Given the description of an element on the screen output the (x, y) to click on. 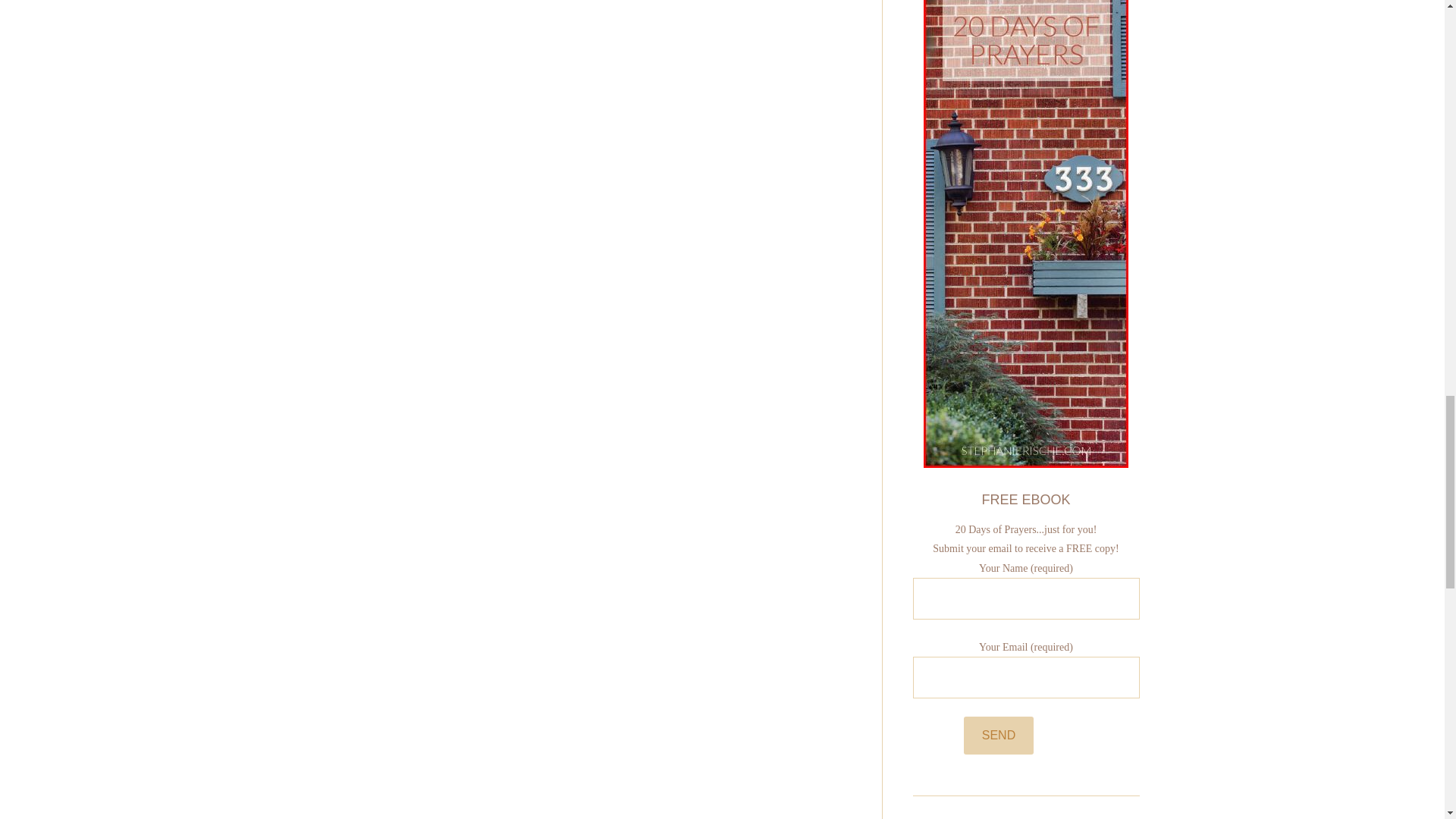
Send (998, 735)
Send (998, 735)
